Given the description of an element on the screen output the (x, y) to click on. 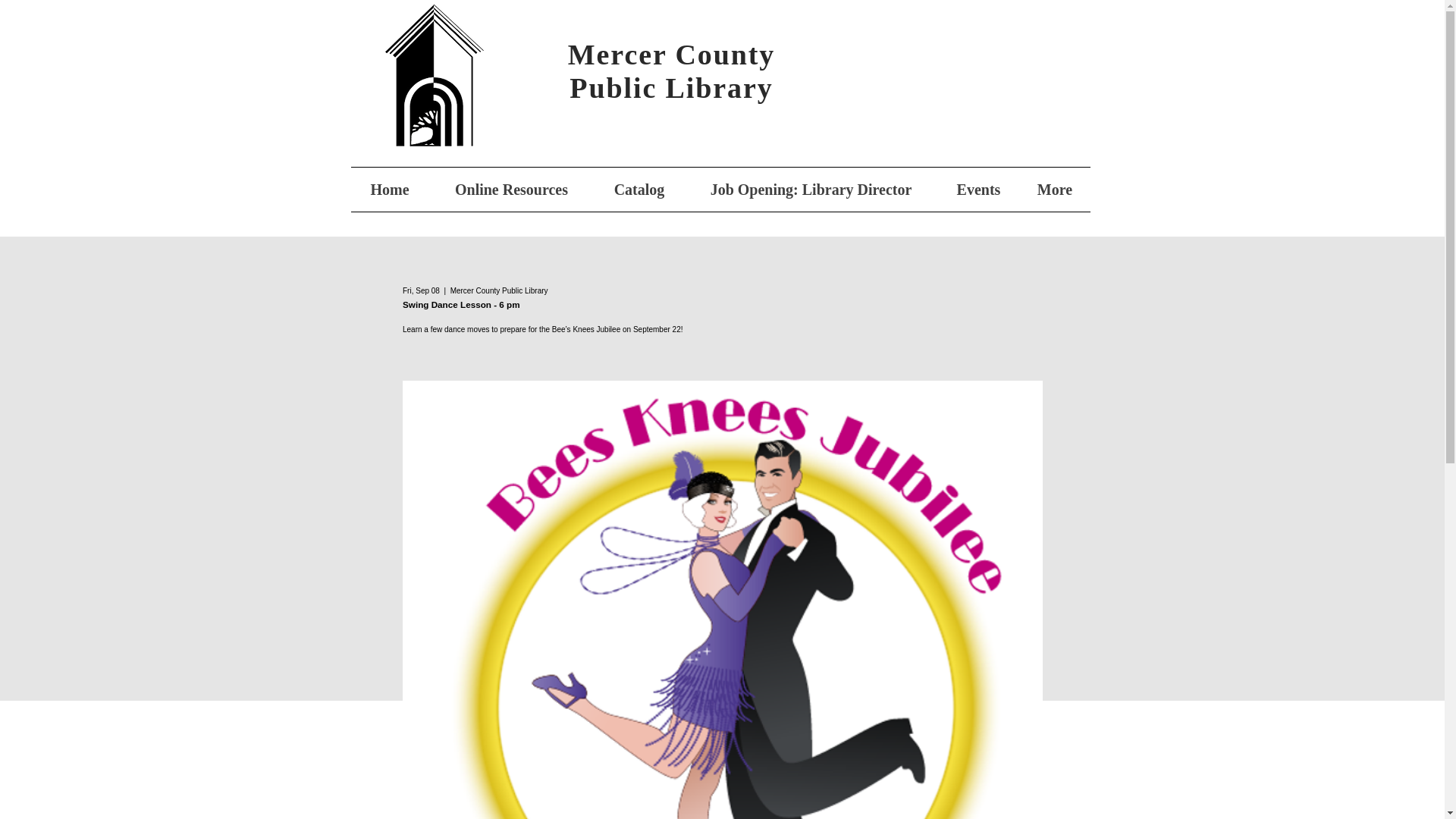
Catalog (639, 189)
Job Opening: Library Director (810, 189)
Online Resources (511, 189)
Home (389, 189)
Events (978, 189)
